Given the description of an element on the screen output the (x, y) to click on. 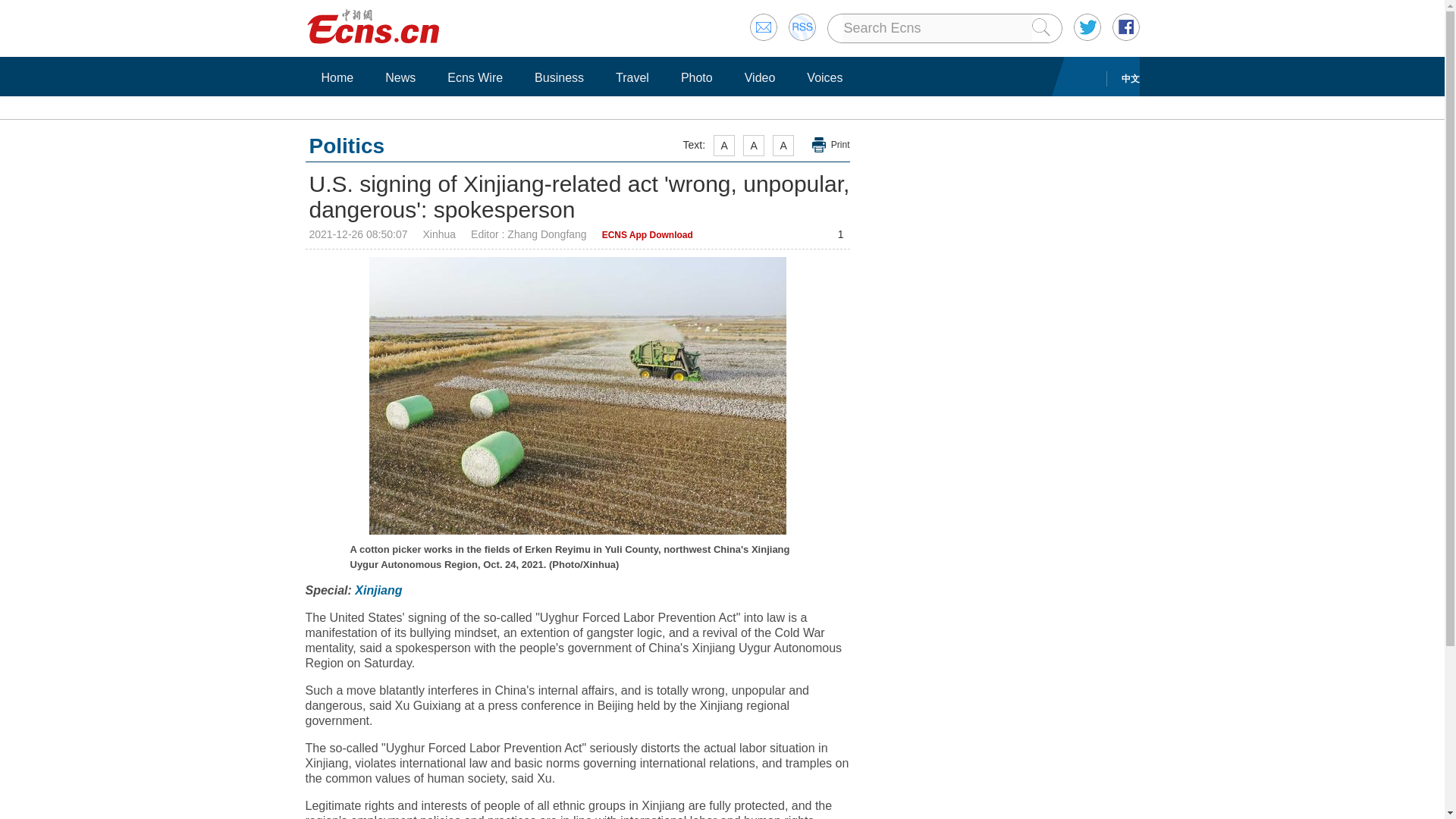
ECNS App Download (647, 235)
Travel (632, 77)
Ecns Wire (475, 77)
Home (337, 77)
Voices (823, 77)
Business (558, 77)
Print (831, 144)
News (400, 77)
Video (760, 77)
Xinjiang (378, 590)
